Given the description of an element on the screen output the (x, y) to click on. 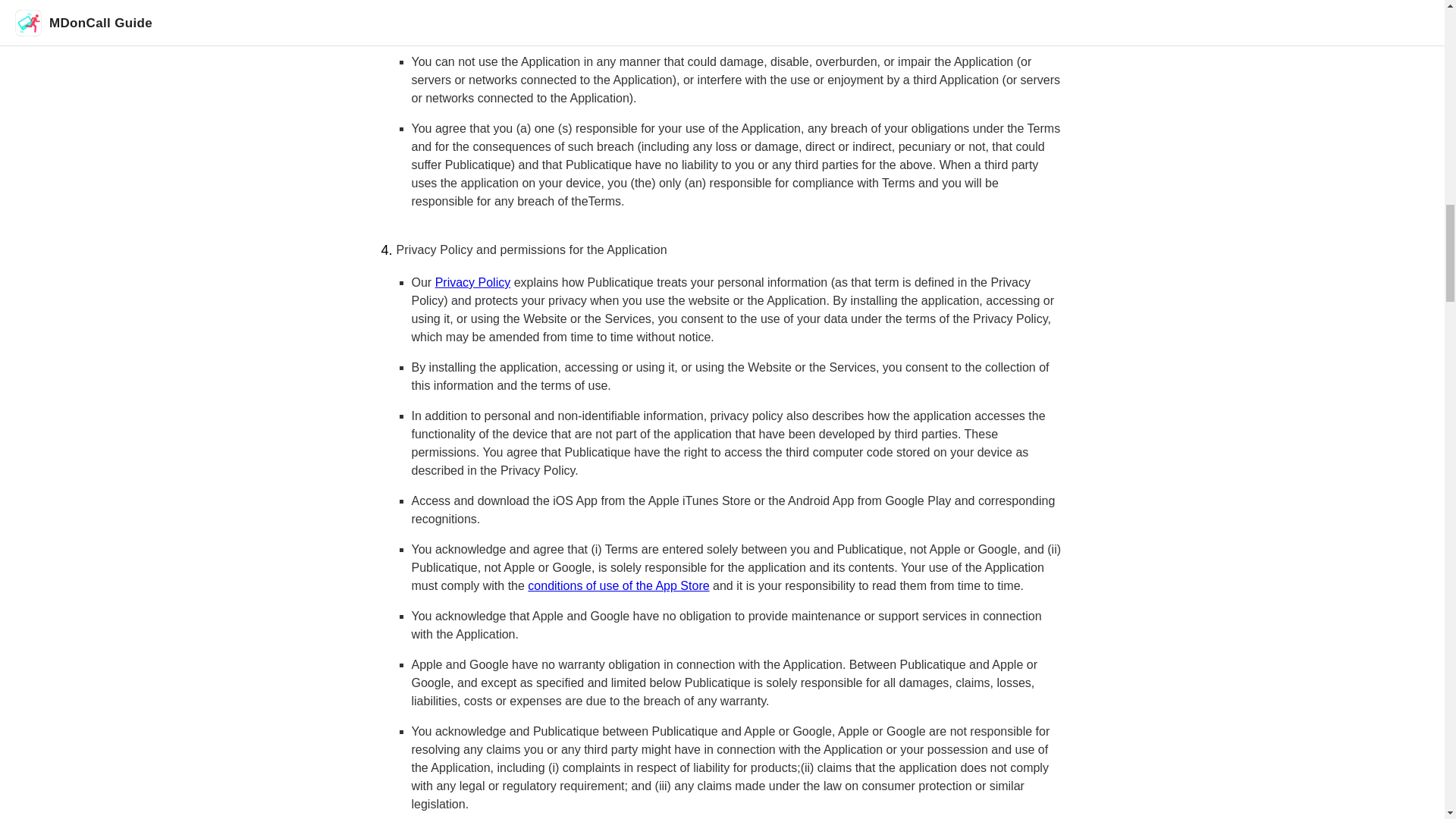
Privacy Policy (473, 282)
conditions of use of the App Store (618, 585)
Terms of use Google Play (929, 12)
Terms of the App Store (668, 12)
